Given the description of an element on the screen output the (x, y) to click on. 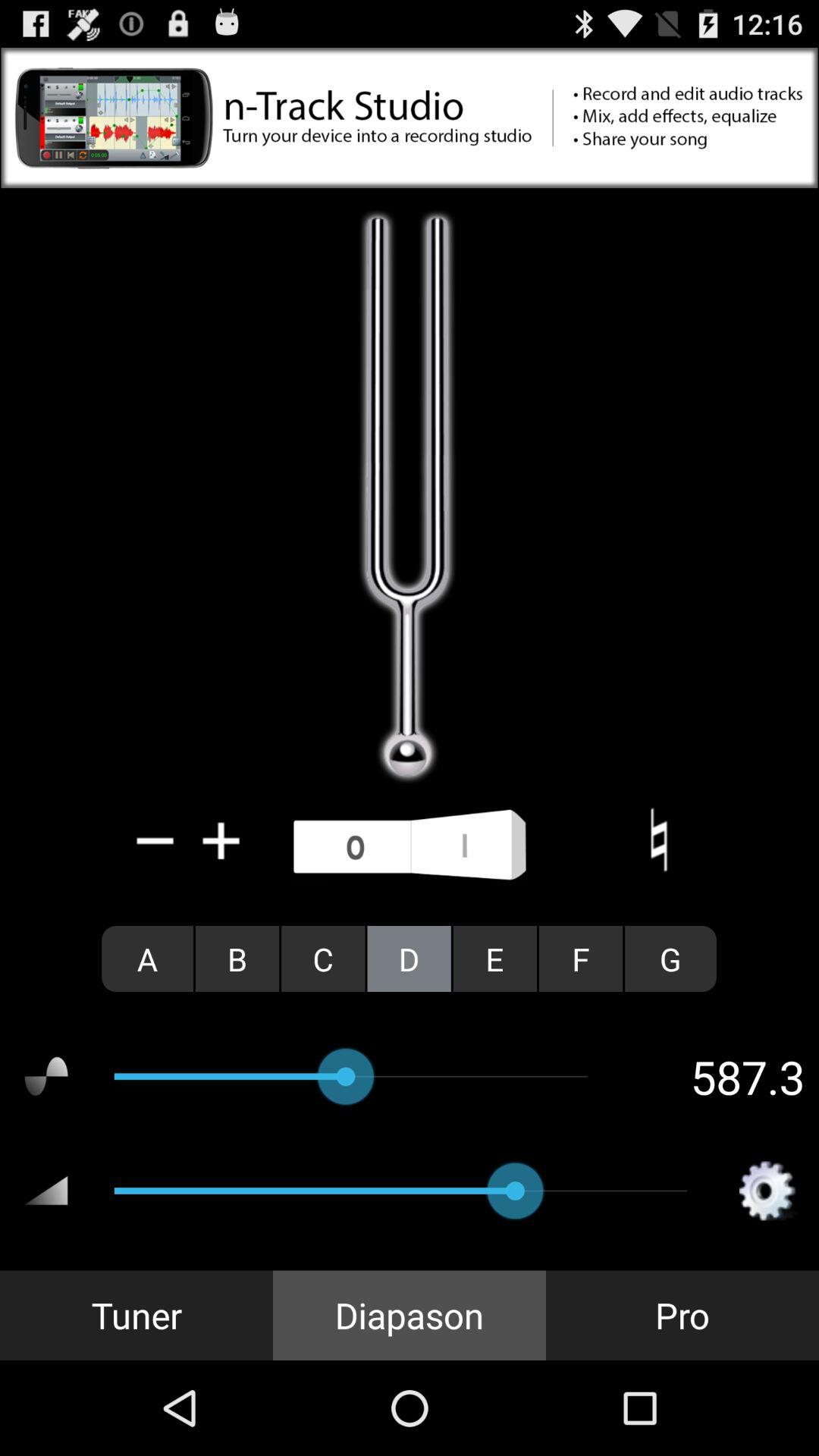
open advertisement (409, 117)
